Given the description of an element on the screen output the (x, y) to click on. 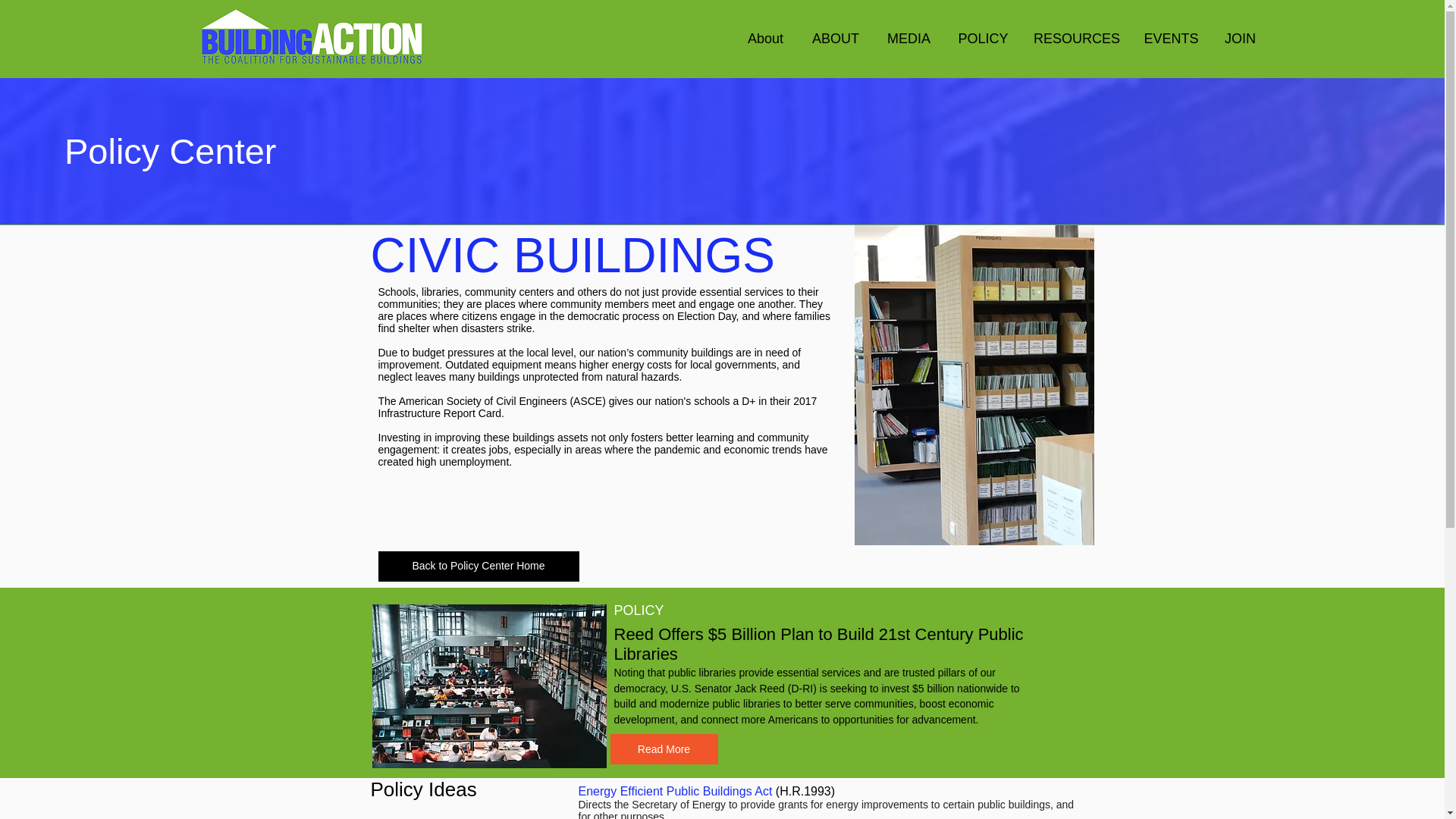
EVENTS (1170, 38)
ABOUT (834, 38)
About (764, 38)
RESOURCES (1077, 38)
Back to Policy Center Home (477, 566)
POLICY (983, 38)
Energy Efficient Public Buildings Act (676, 790)
JOIN (1239, 38)
Read More (663, 748)
MEDIA (908, 38)
